Given the description of an element on the screen output the (x, y) to click on. 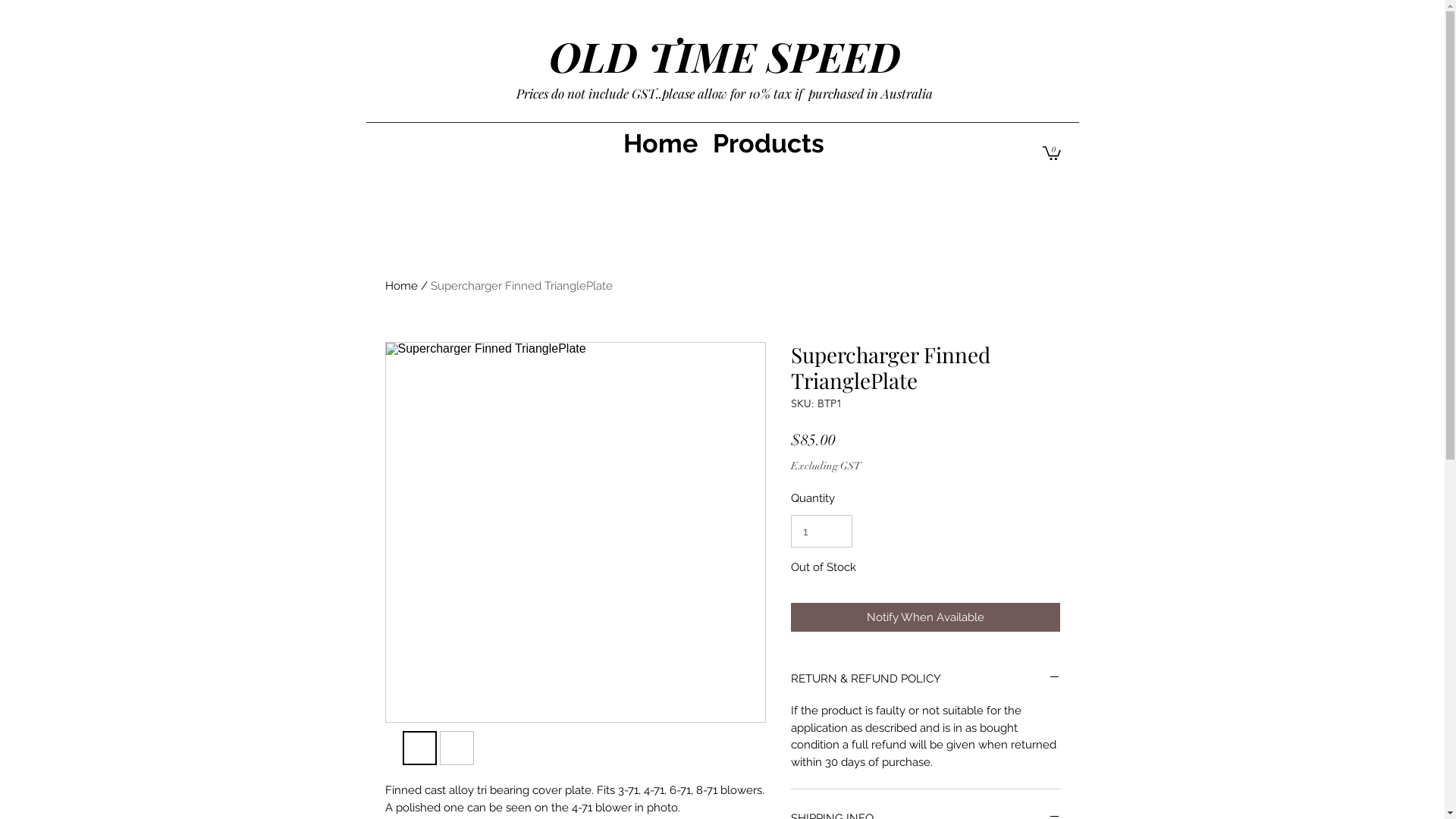
Notify When Available Element type: text (924, 617)
Home Element type: text (660, 142)
Products Element type: text (768, 142)
0 Element type: text (1050, 152)
RETURN & REFUND POLICY Element type: text (924, 678)
OLD TIME SPEED Element type: text (724, 55)
Home Element type: text (401, 285)
